Given the description of an element on the screen output the (x, y) to click on. 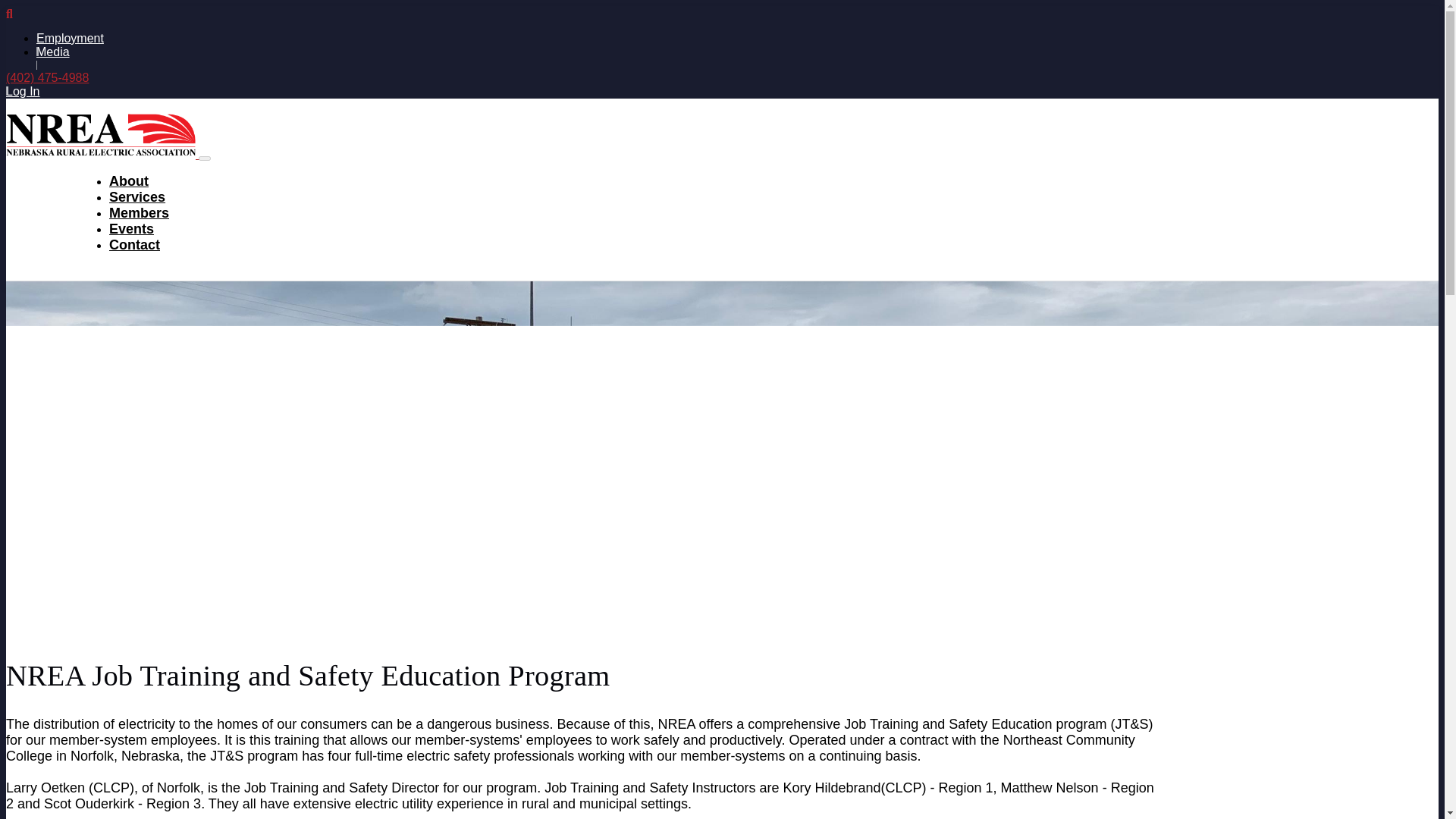
Media (52, 51)
Members (138, 212)
Events (131, 228)
Call NREA for support. (46, 77)
Home (101, 154)
Employment (69, 38)
Services (137, 196)
About (128, 181)
Log In (22, 91)
Contact (134, 244)
Skip to main content (722, 7)
